Given the description of an element on the screen output the (x, y) to click on. 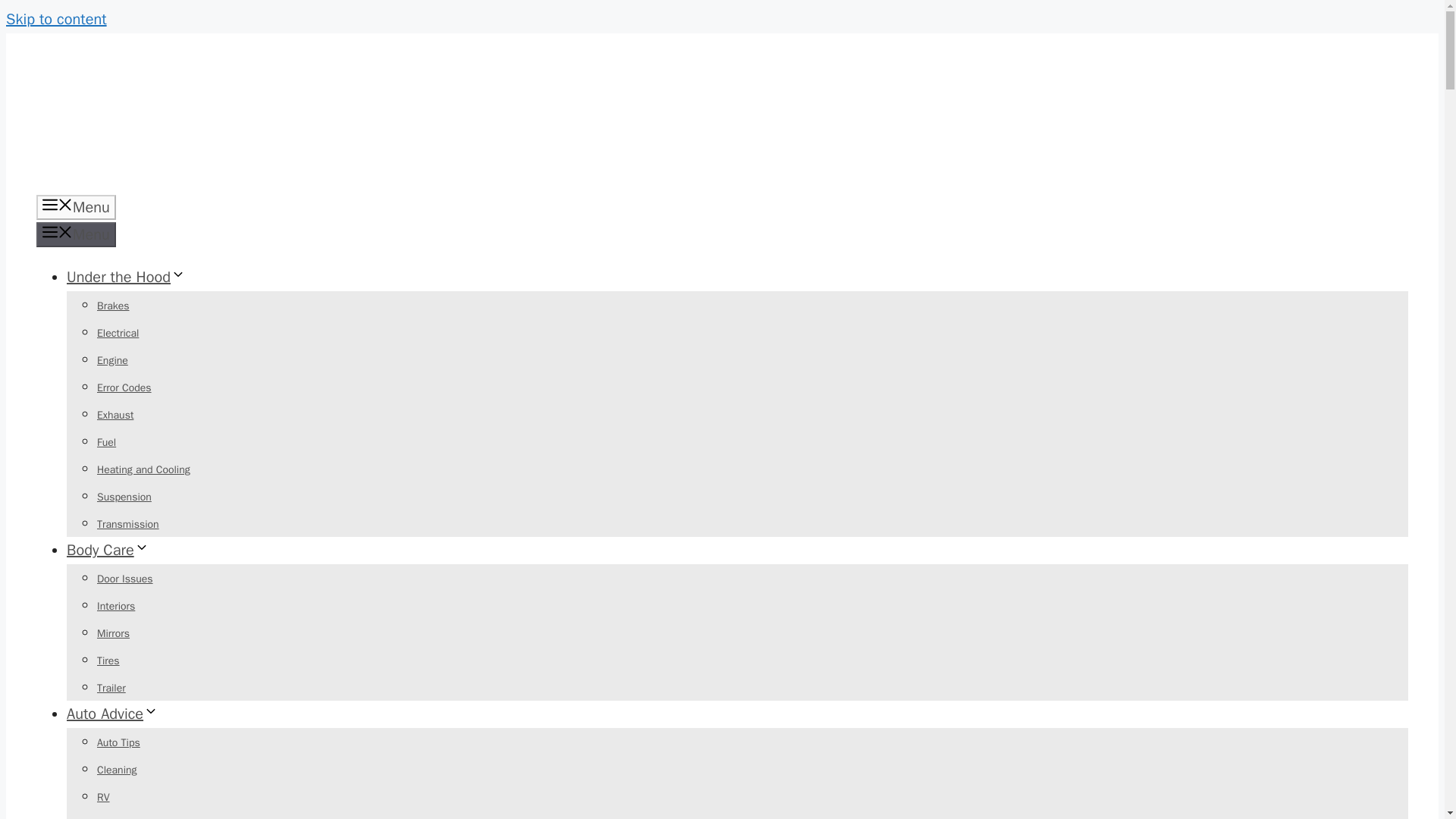
Transmission (127, 523)
Error Codes (124, 387)
Engine (112, 359)
Tires (108, 660)
Door Issues (124, 578)
Auto Advice (112, 713)
Exhaust (115, 414)
Mirrors (113, 633)
Interiors (116, 605)
Suspension (124, 496)
Skip to content (55, 18)
Trailer (111, 687)
Auto Tips (118, 742)
Menu (76, 207)
Menu (76, 234)
